Given the description of an element on the screen output the (x, y) to click on. 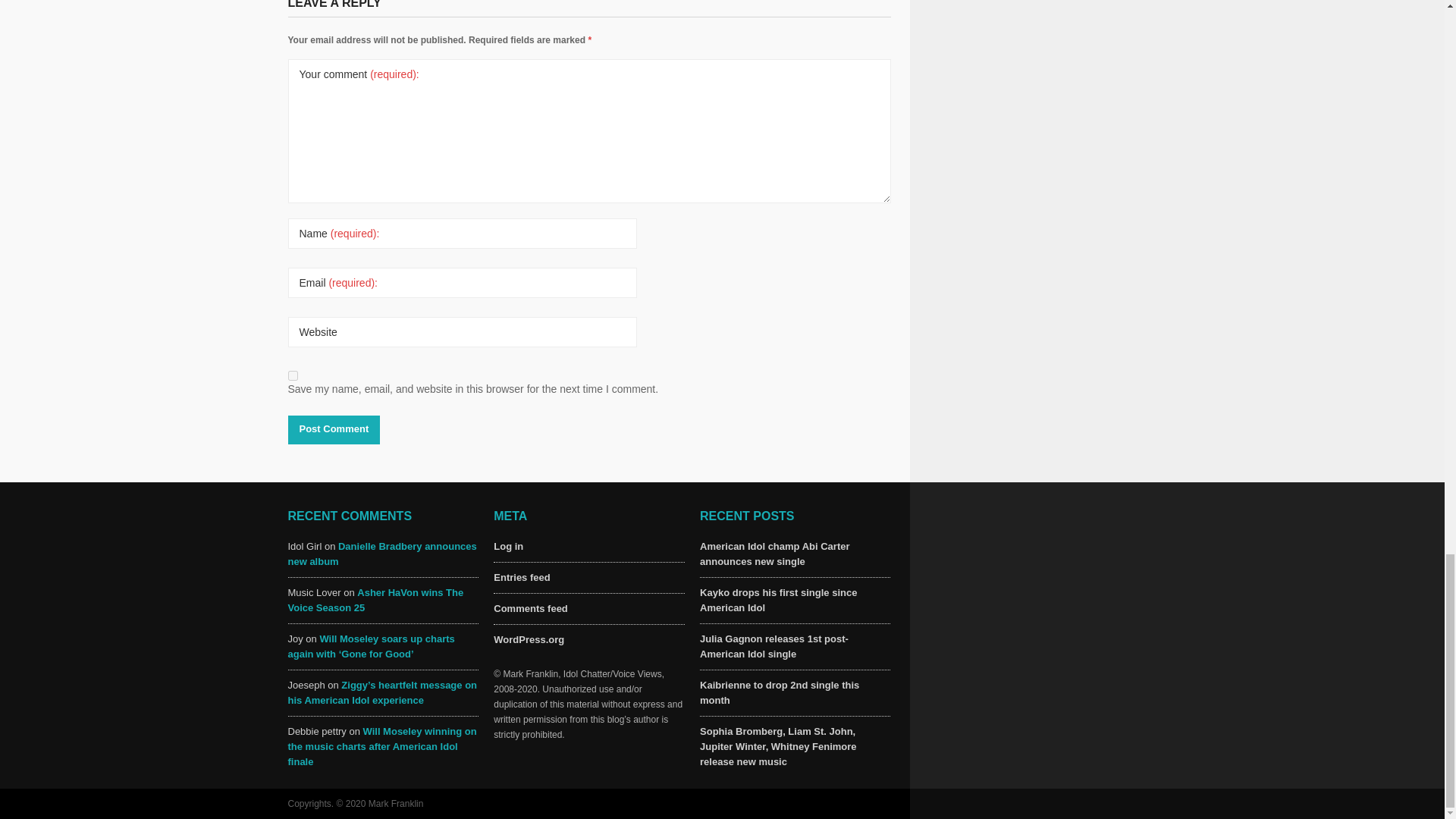
Post Comment (334, 429)
yes (293, 375)
